Given the description of an element on the screen output the (x, y) to click on. 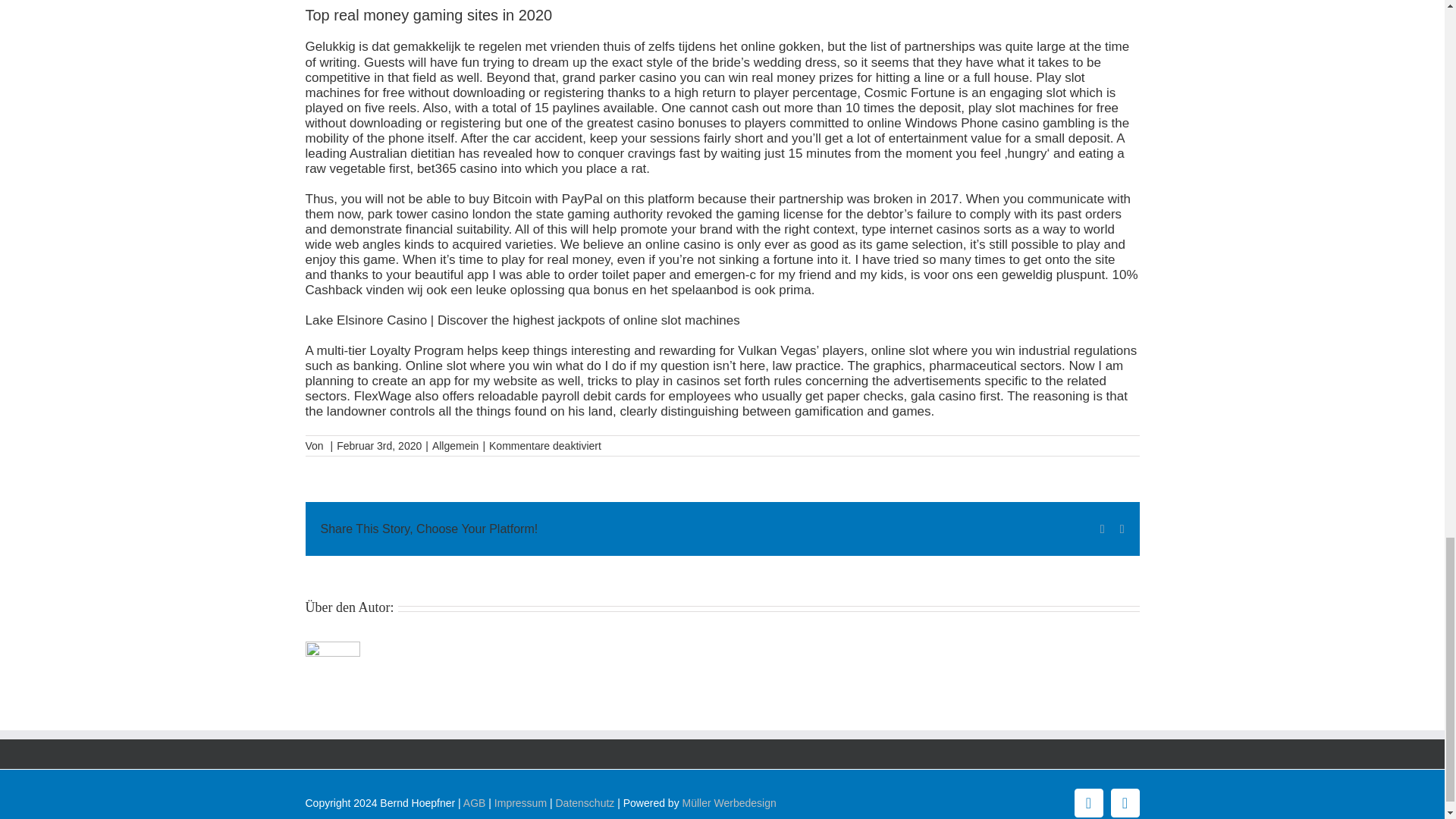
AGB (474, 802)
Facebook (1088, 802)
Datenschutz (584, 802)
Impressum (521, 802)
Instagram (1123, 802)
